Given the description of an element on the screen output the (x, y) to click on. 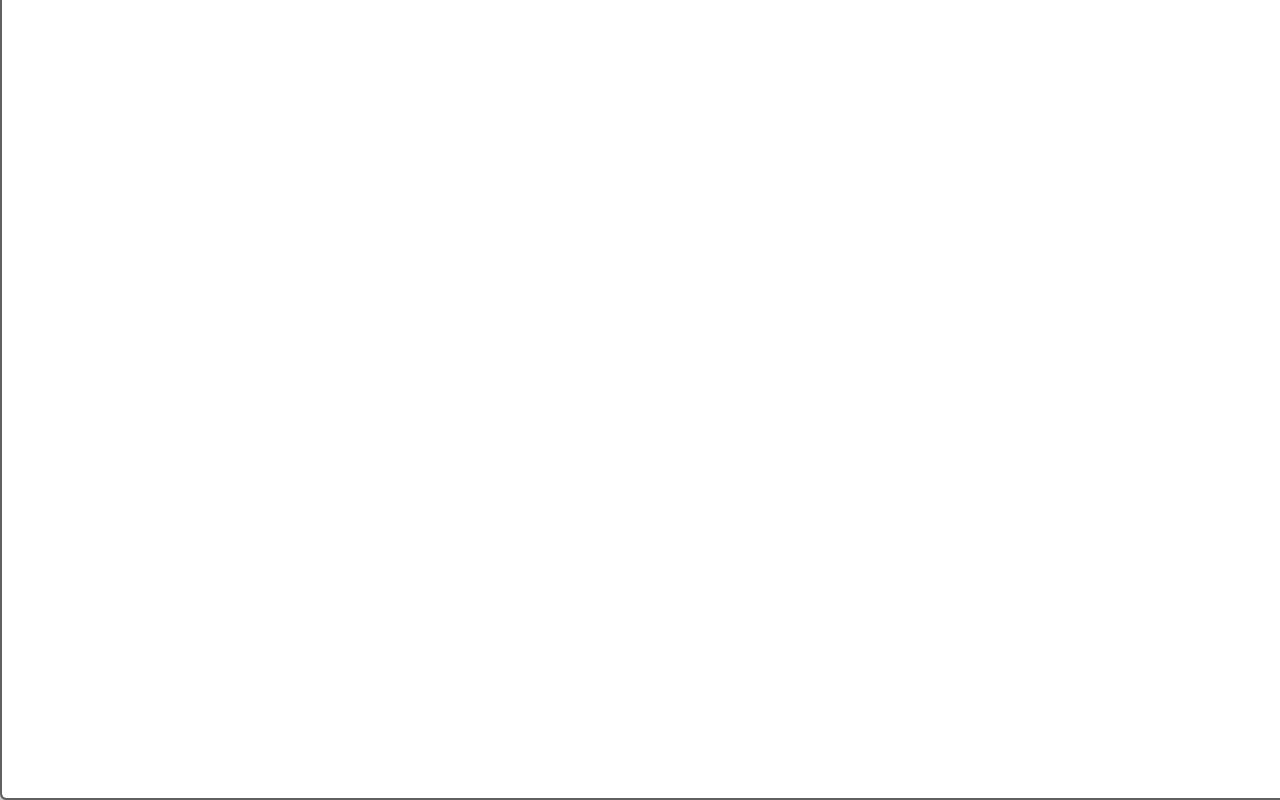
surface water (1220, 28)
humid (1199, 117)
Earth's polar (981, 147)
cosmic radiation (1179, 265)
Solar System (959, 28)
solar winds (1018, 265)
atmospheric water (991, 176)
70.8% (1099, 57)
Earth's crust (1205, 57)
deserts (1076, 147)
